Given the description of an element on the screen output the (x, y) to click on. 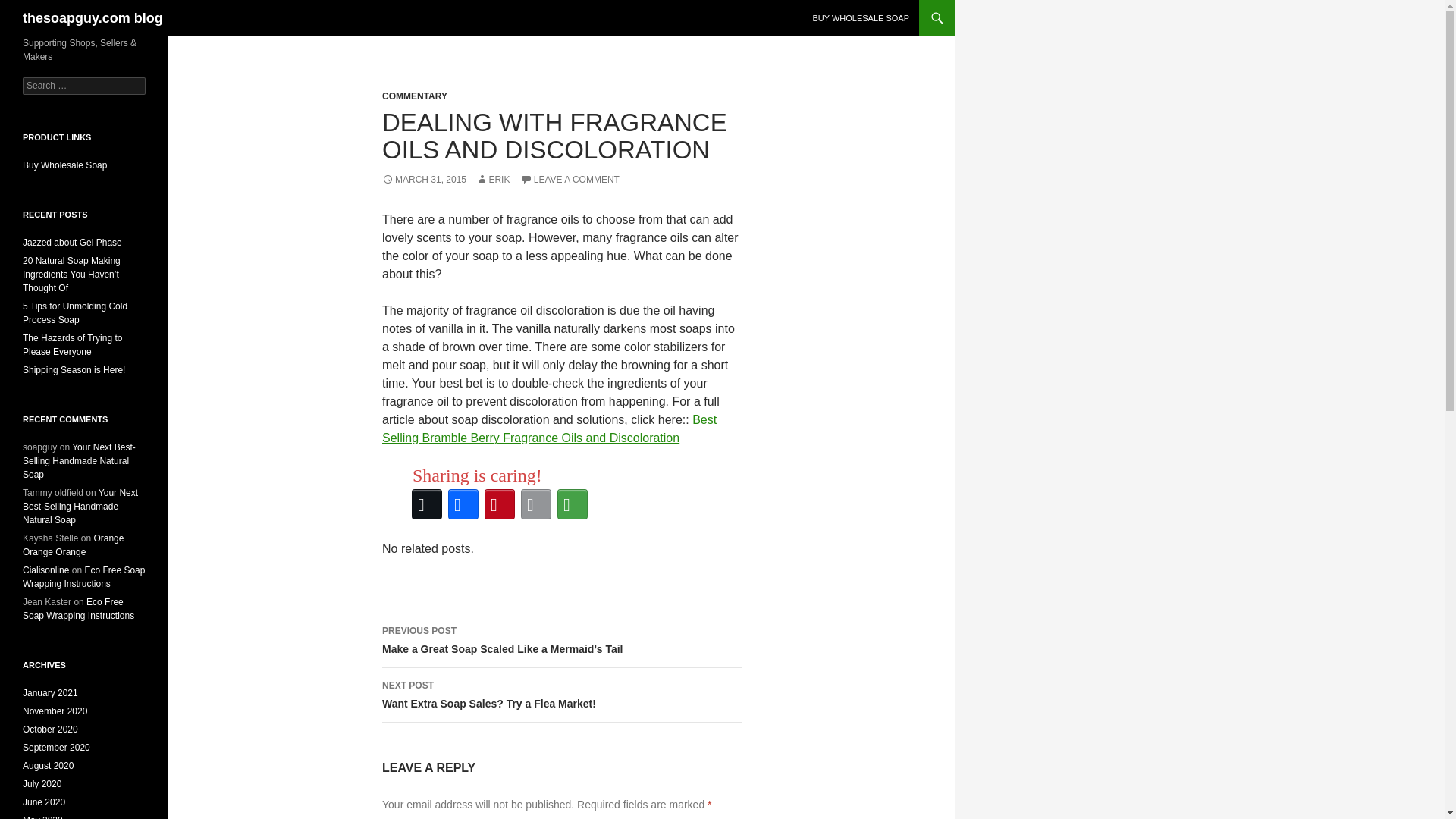
July 2020 (42, 783)
June 2020 (44, 801)
Search (30, 8)
5 Tips for Unmolding Cold Process Soap (75, 313)
Your Next Best-Selling Handmade Natural Soap (80, 506)
Jazzed about Gel Phase (72, 242)
October 2020 (50, 728)
Buy Wholesale Soap (64, 164)
Email This (536, 504)
COMMENTARY (413, 95)
November 2020 (55, 710)
Your Next Best-Selling Handmade Natural Soap (79, 460)
Facebook (463, 504)
Eco Free Soap Wrapping Instructions (83, 576)
Pinterest (499, 504)
